Given the description of an element on the screen output the (x, y) to click on. 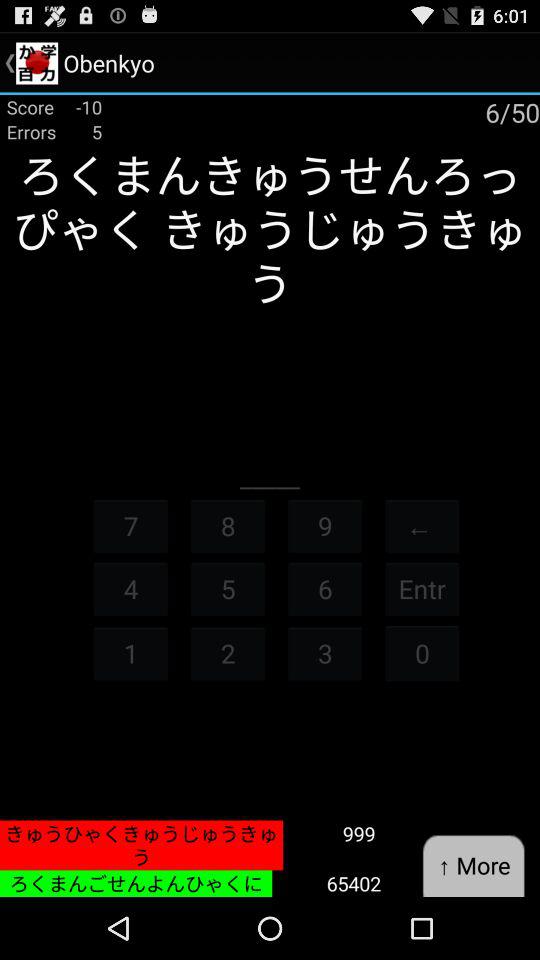
click button next to 8 item (325, 525)
